Given the description of an element on the screen output the (x, y) to click on. 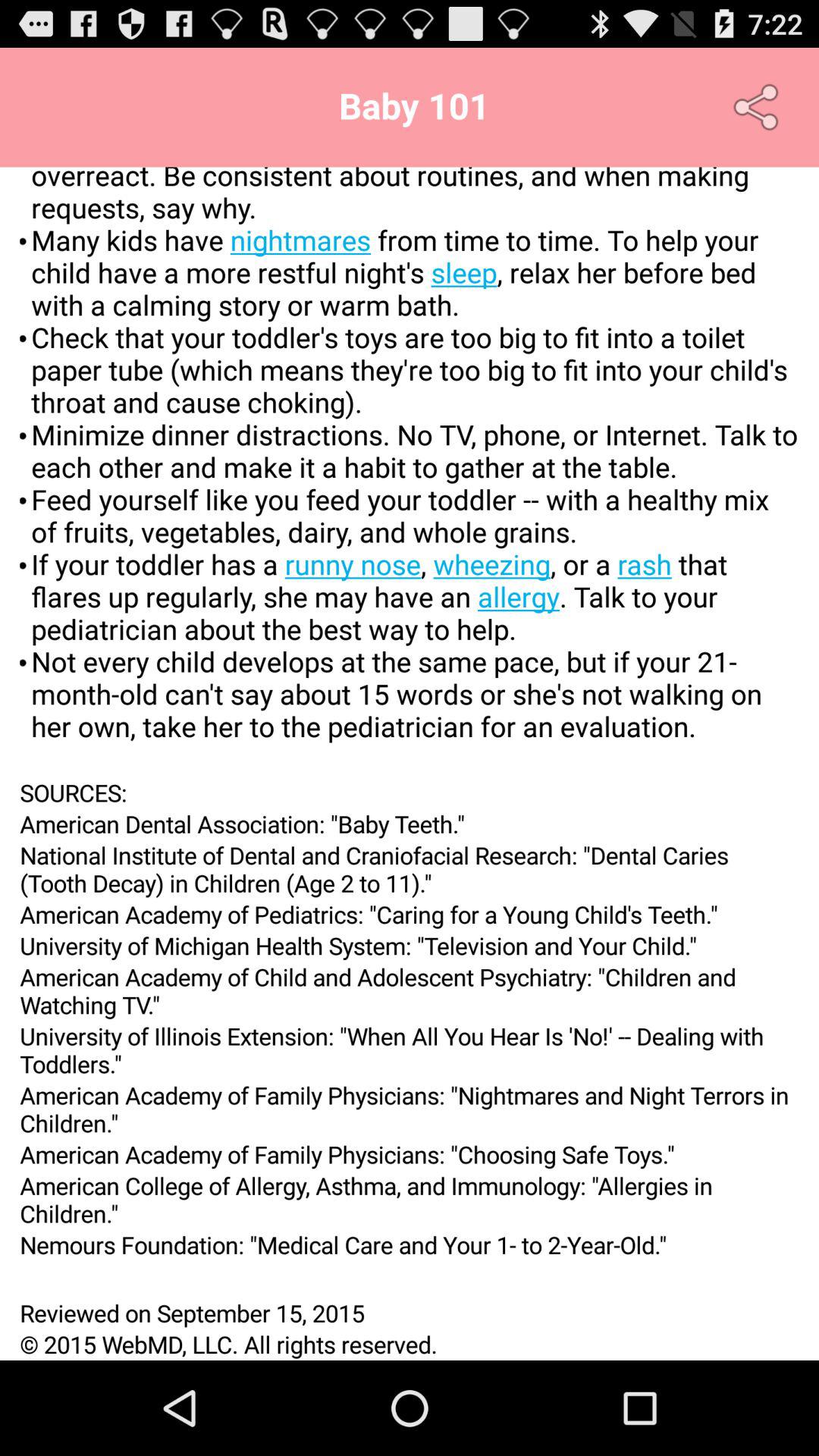
turn on item above the american dental association icon (409, 792)
